Given the description of an element on the screen output the (x, y) to click on. 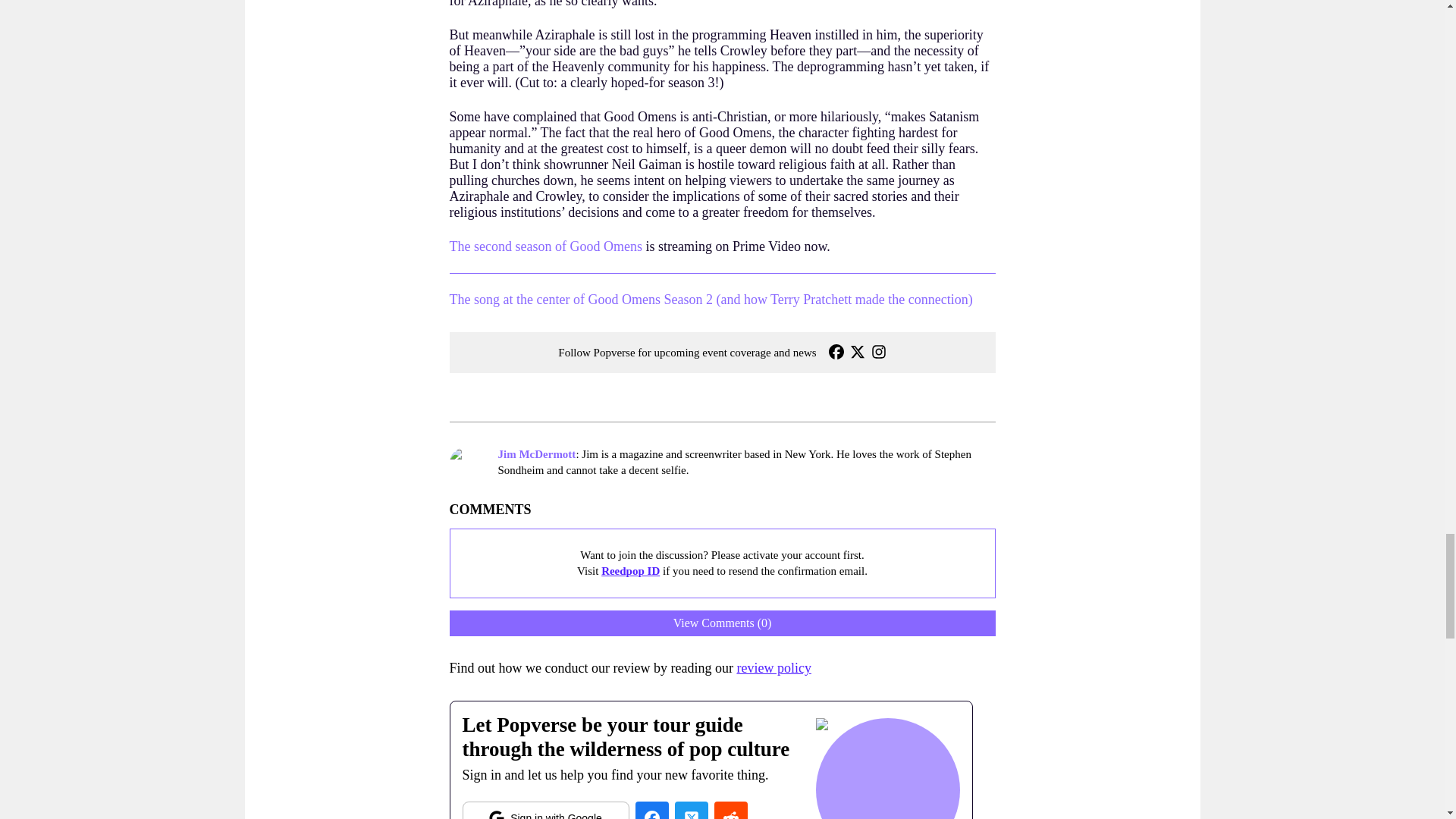
Sign in with Google (545, 810)
facebook (651, 810)
google (545, 810)
The second season of Good Omens (545, 246)
review policy (773, 667)
Jim McDermott (536, 453)
